Given the description of an element on the screen output the (x, y) to click on. 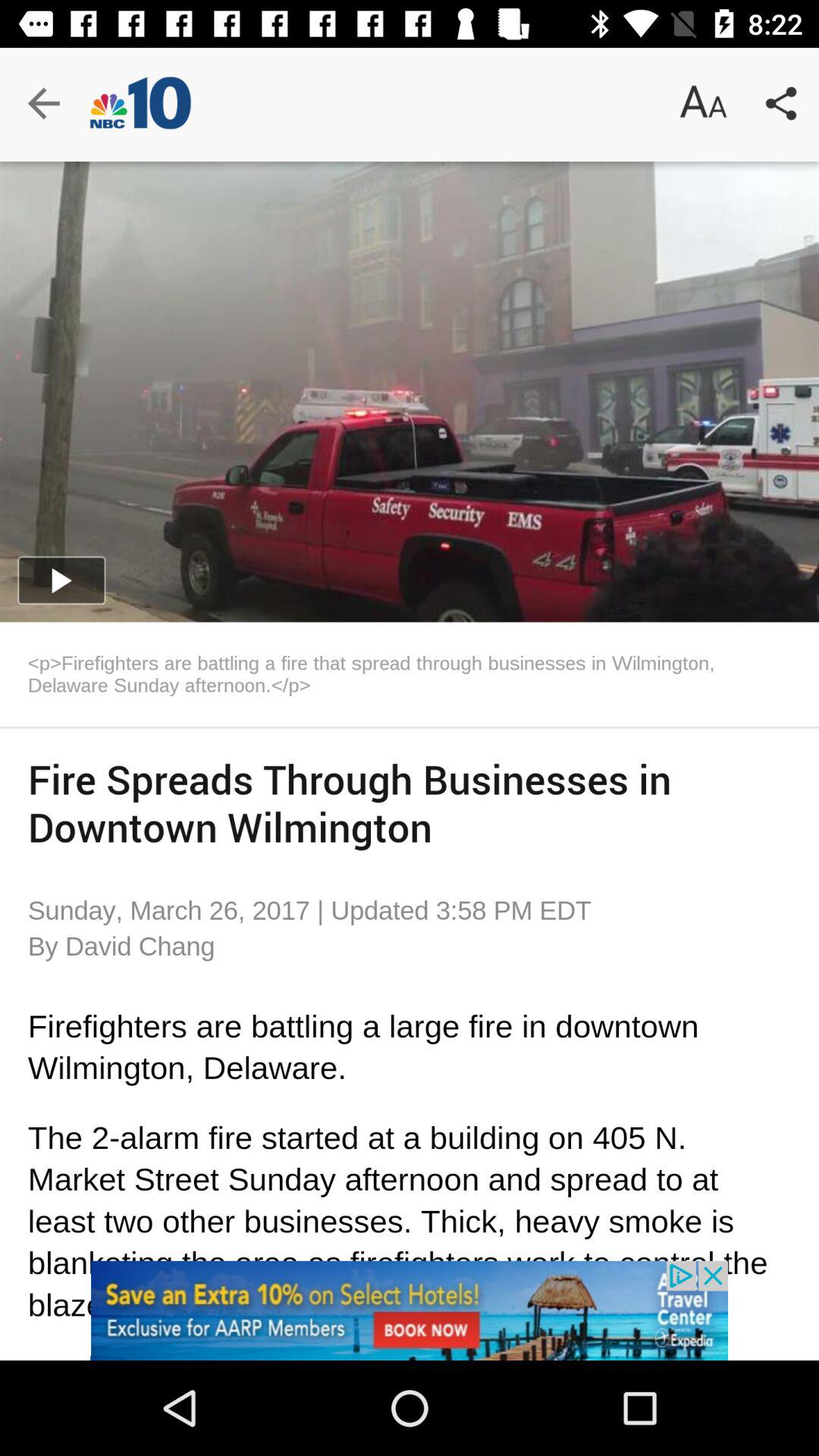
click on the play icon (61, 579)
